Given the description of an element on the screen output the (x, y) to click on. 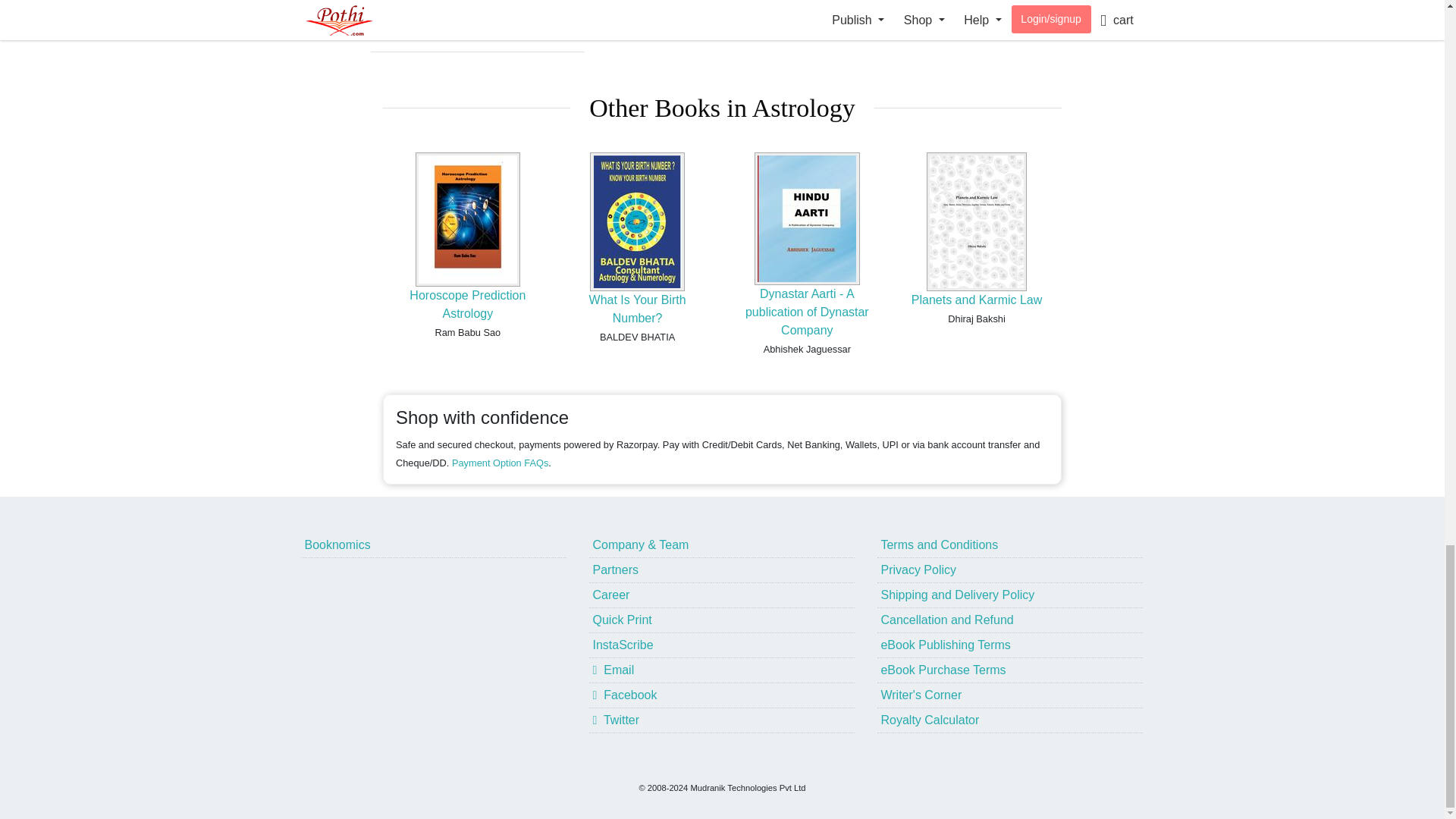
Horoscope Prediction Astrology (467, 304)
Planets and Karmic Law (976, 299)
Dynastar Aarti - A publication of Dynastar Company (807, 311)
What Is Your Birth Number? (637, 308)
Horoscope Prediction Astrology (467, 304)
WRITE A REVIEW (478, 16)
